Given the description of an element on the screen output the (x, y) to click on. 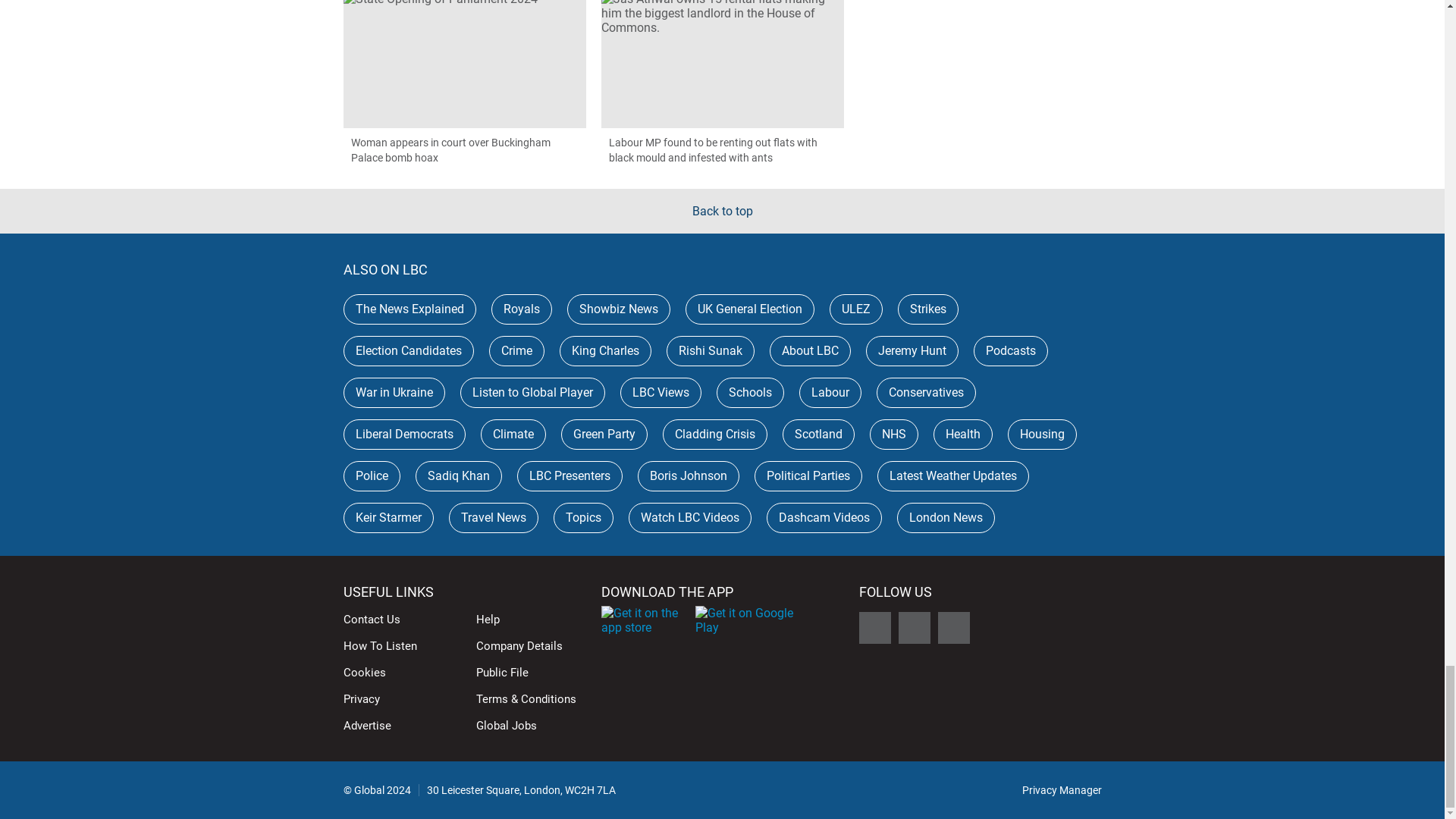
Back to top (721, 210)
Follow LBC on Youtube (953, 627)
Follow LBC on Facebook (874, 627)
Follow LBC on Instagram (914, 627)
